Given the description of an element on the screen output the (x, y) to click on. 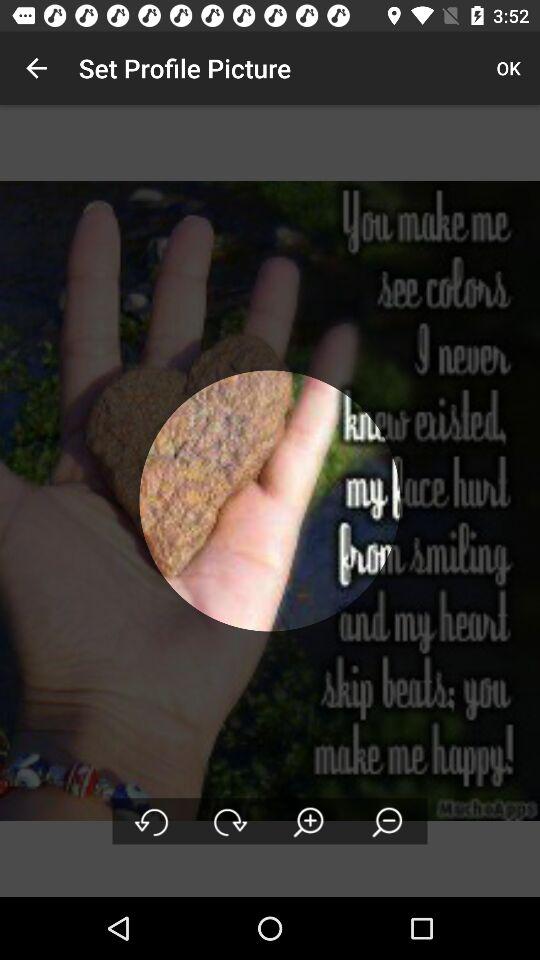
turn on icon at the top right corner (508, 67)
